Given the description of an element on the screen output the (x, y) to click on. 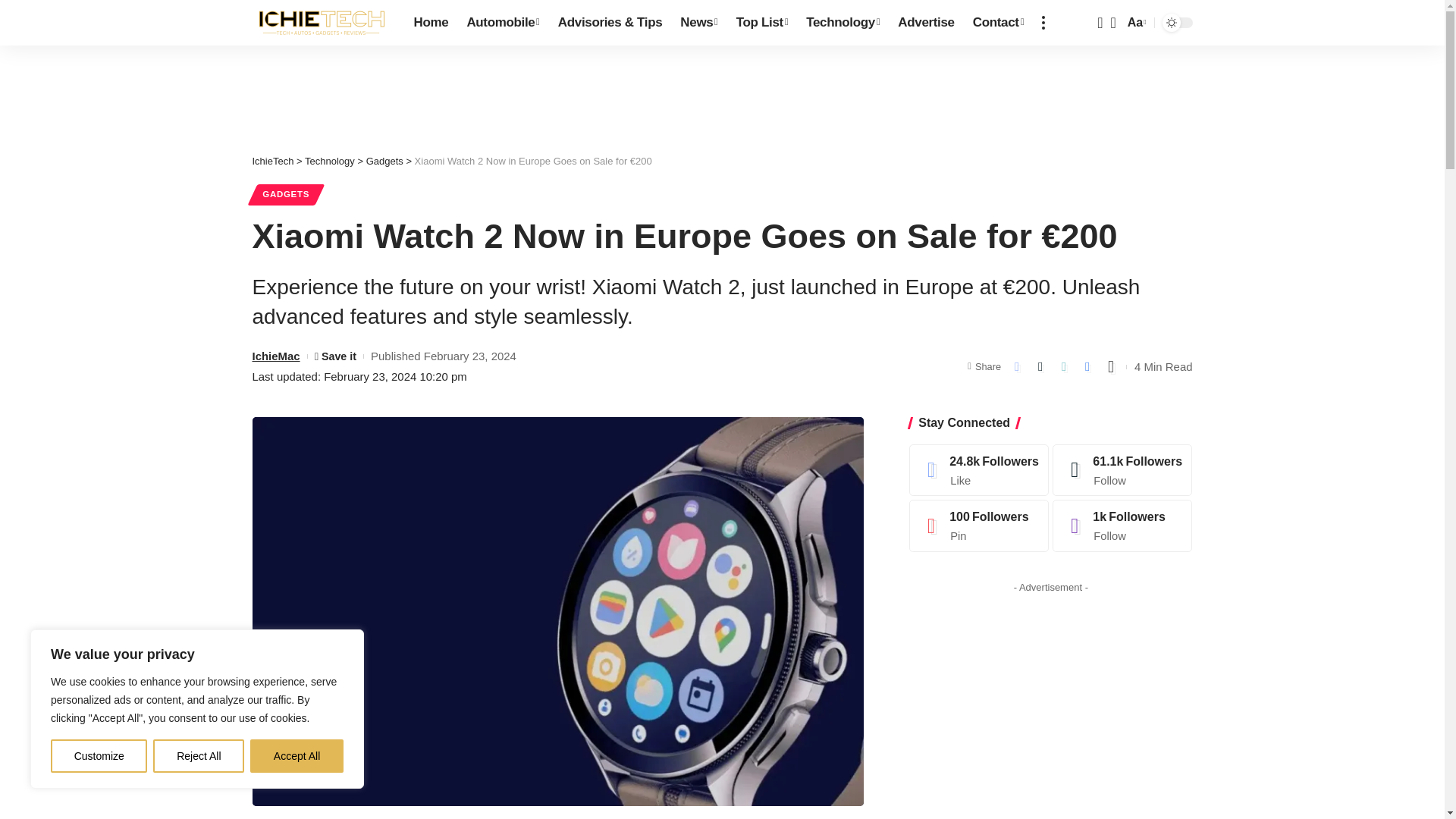
Customize (98, 756)
Go to the Technology Category archives. (329, 161)
Home (431, 22)
Advertisement (1050, 709)
Contact (997, 22)
Technology (842, 22)
Advertise (925, 22)
Go to IchieTech. (272, 161)
Advertisement (722, 90)
Top List (761, 22)
